Given the description of an element on the screen output the (x, y) to click on. 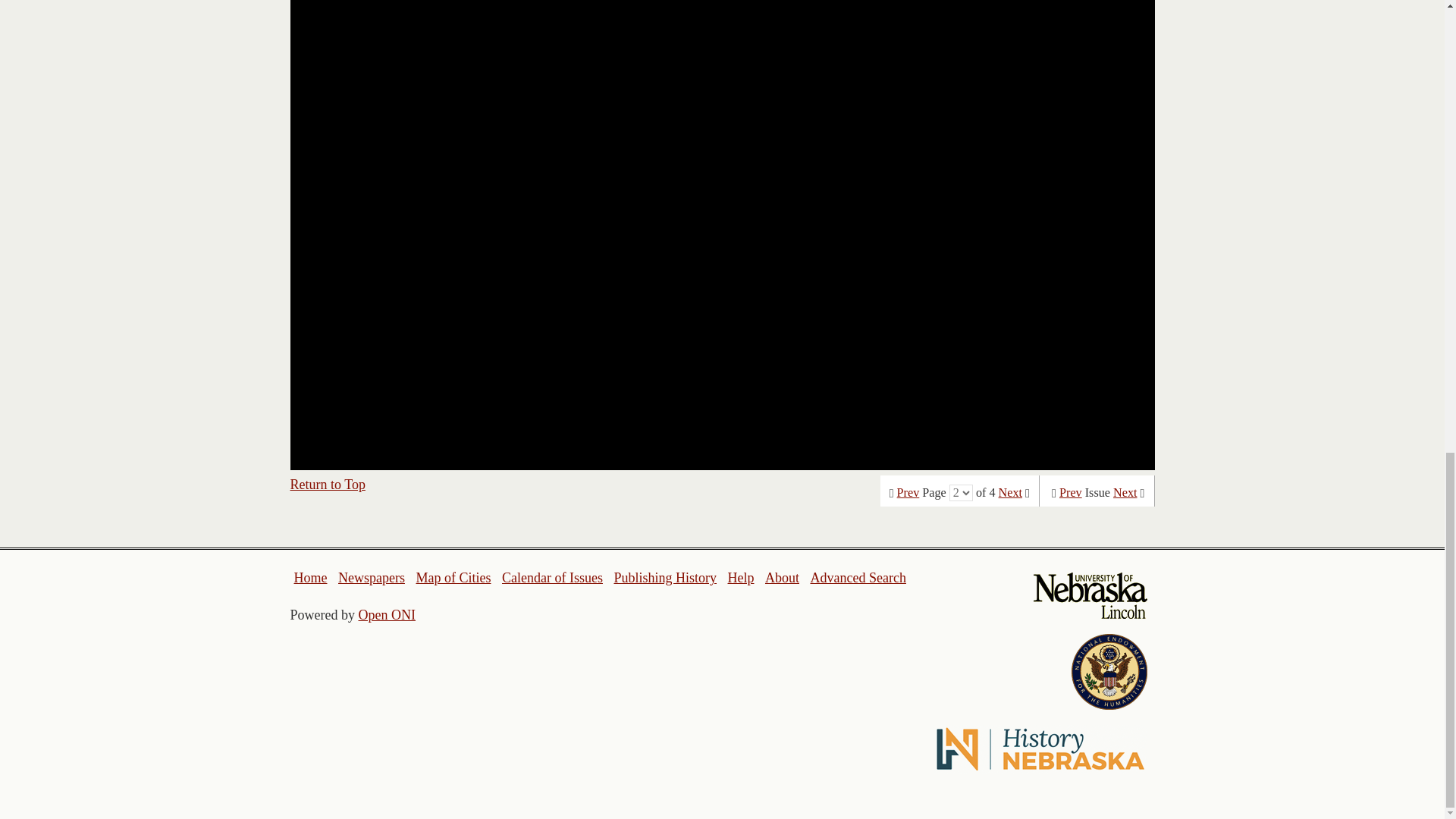
Open ONI (386, 614)
Publishing History (664, 577)
Prev (1070, 492)
Advanced Search (857, 577)
Next (1125, 492)
Prev (908, 492)
Newspapers (370, 577)
Next (1010, 492)
Home (310, 577)
Help (740, 577)
